Given the description of an element on the screen output the (x, y) to click on. 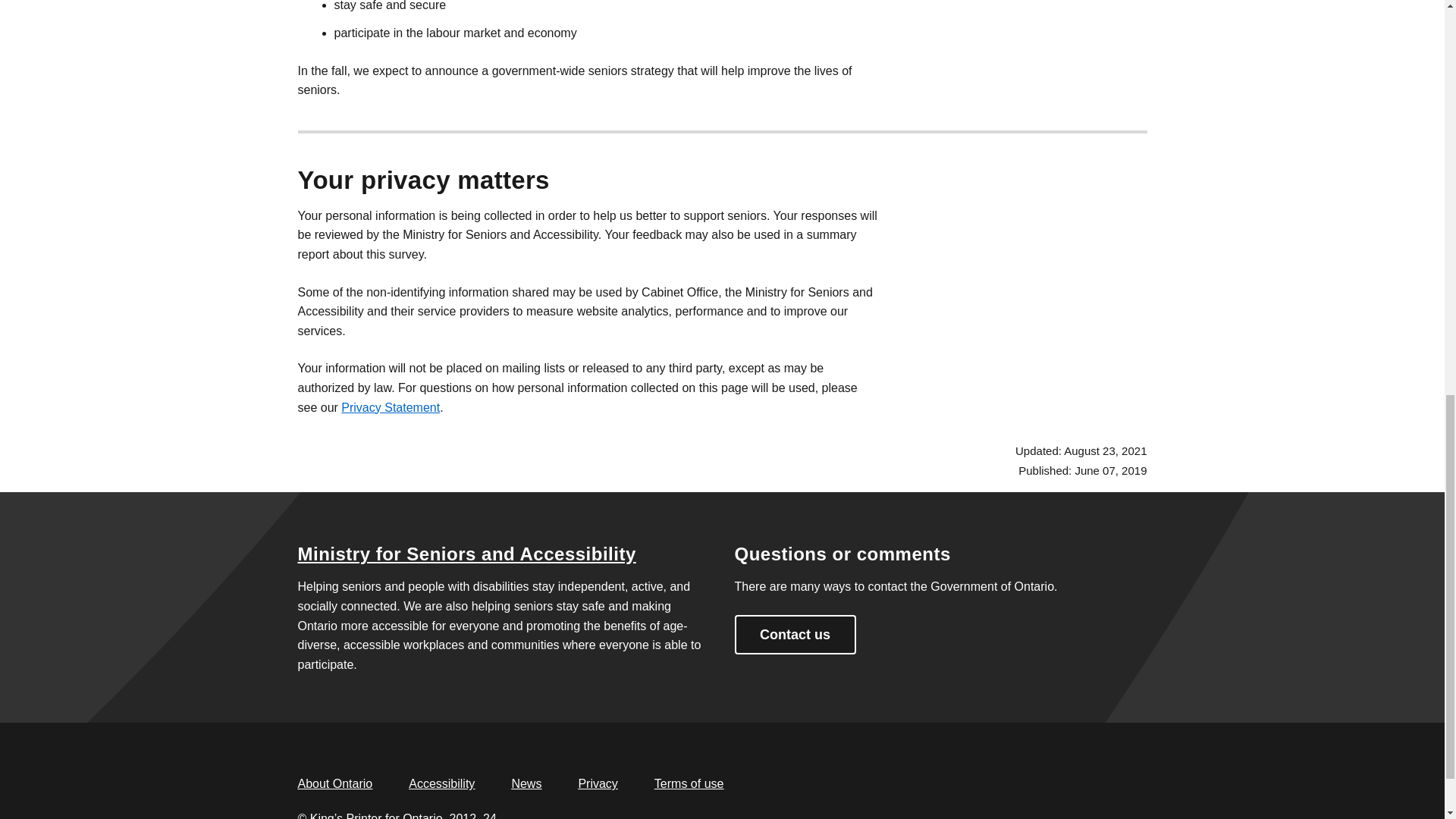
News (526, 783)
Accessibility (441, 783)
Ministry for Seniors and Accessibility (465, 554)
Terms of use (688, 783)
Privacy Statement (389, 407)
About Ontario (334, 783)
Privacy (597, 783)
Contact us (794, 634)
